Given the description of an element on the screen output the (x, y) to click on. 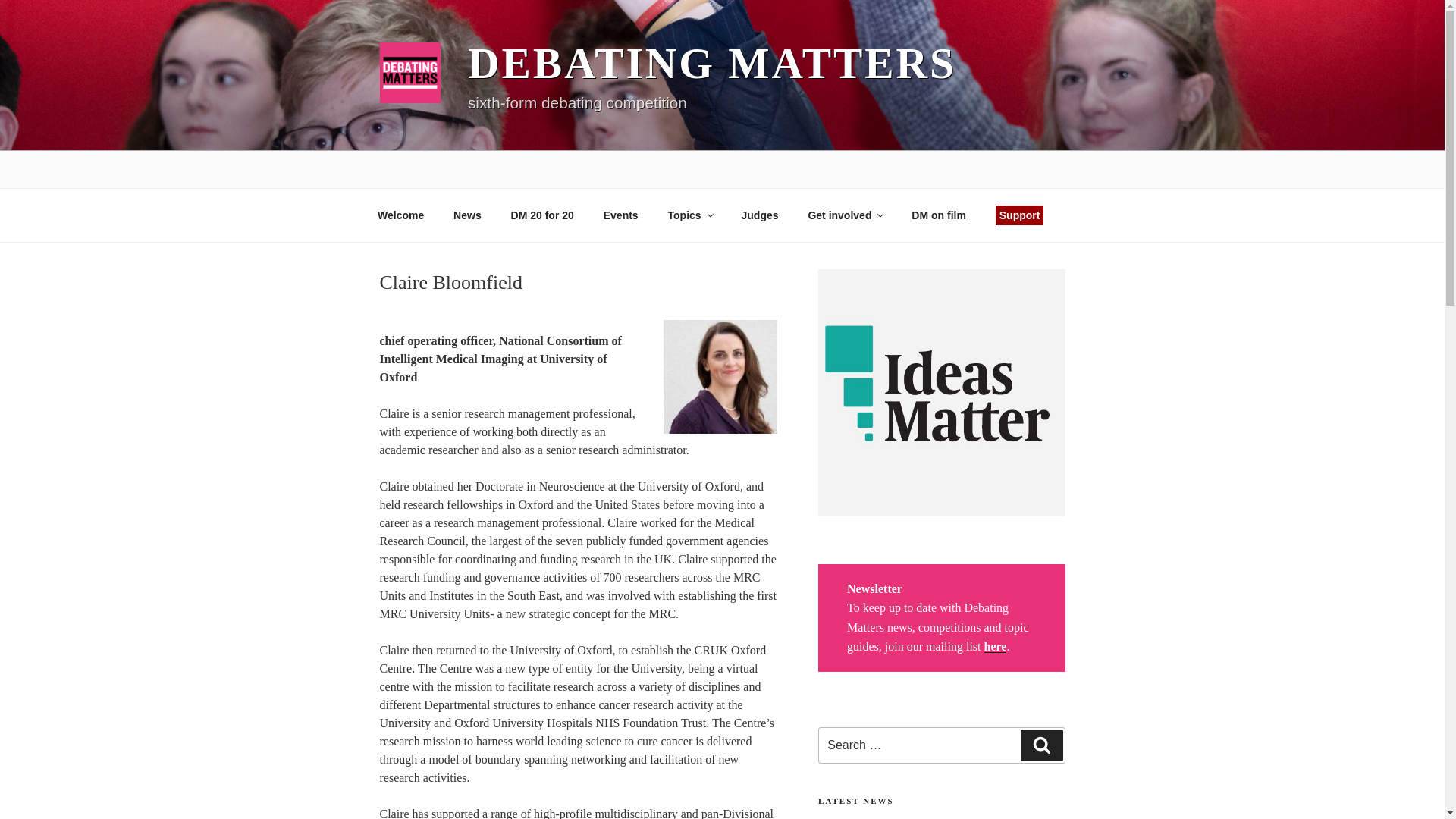
DEBATING MATTERS (711, 62)
DM 20 for 20 (541, 215)
DM on film (938, 215)
Events (619, 215)
Welcome (400, 215)
News (468, 215)
Search (1041, 745)
Topics (689, 215)
here (995, 645)
Support (1019, 215)
